Given the description of an element on the screen output the (x, y) to click on. 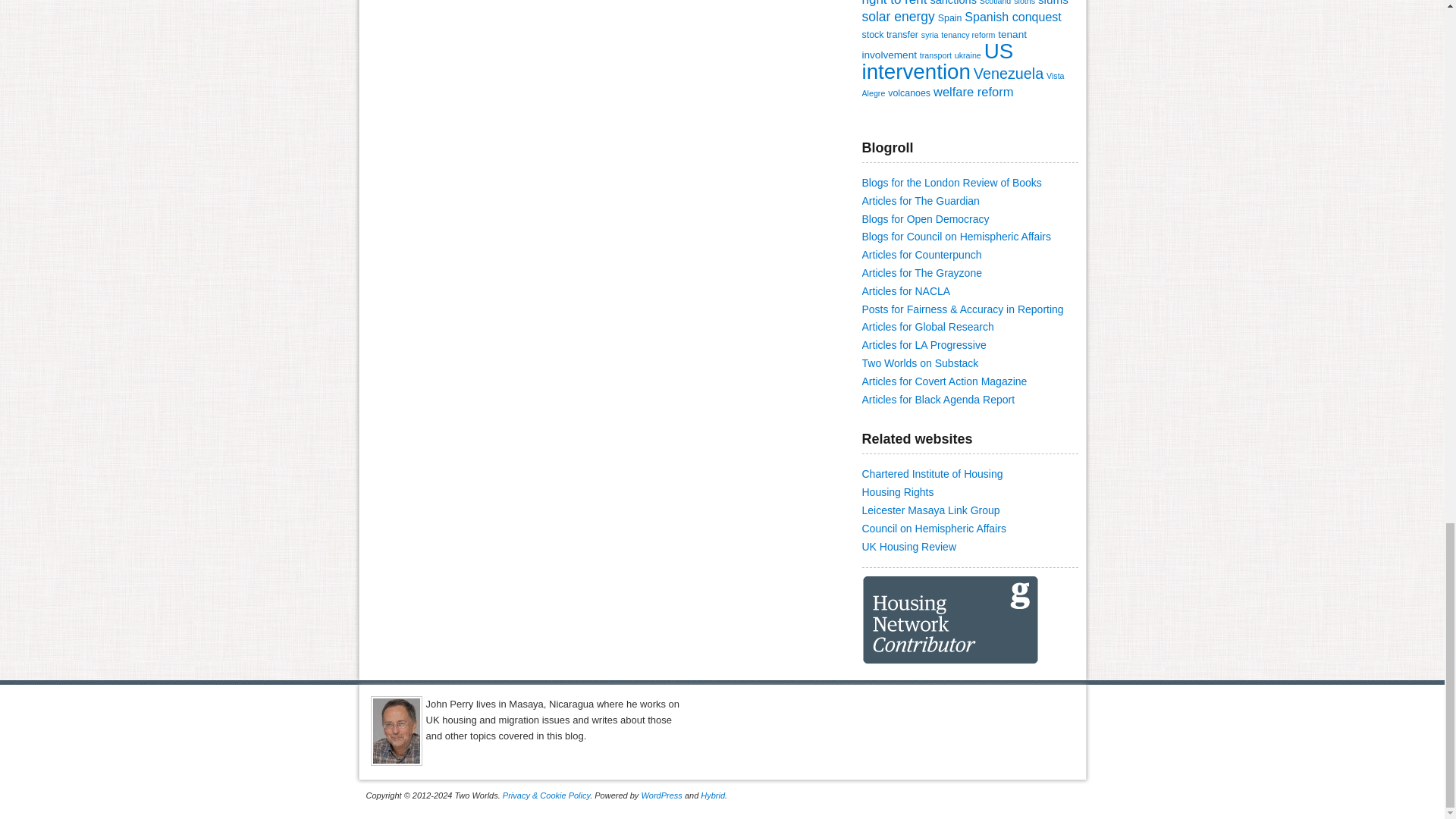
Articles for Black Agenda Report (937, 399)
Articles for Covert Action Magazine (943, 381)
Articles for Global Research (926, 326)
